Given the description of an element on the screen output the (x, y) to click on. 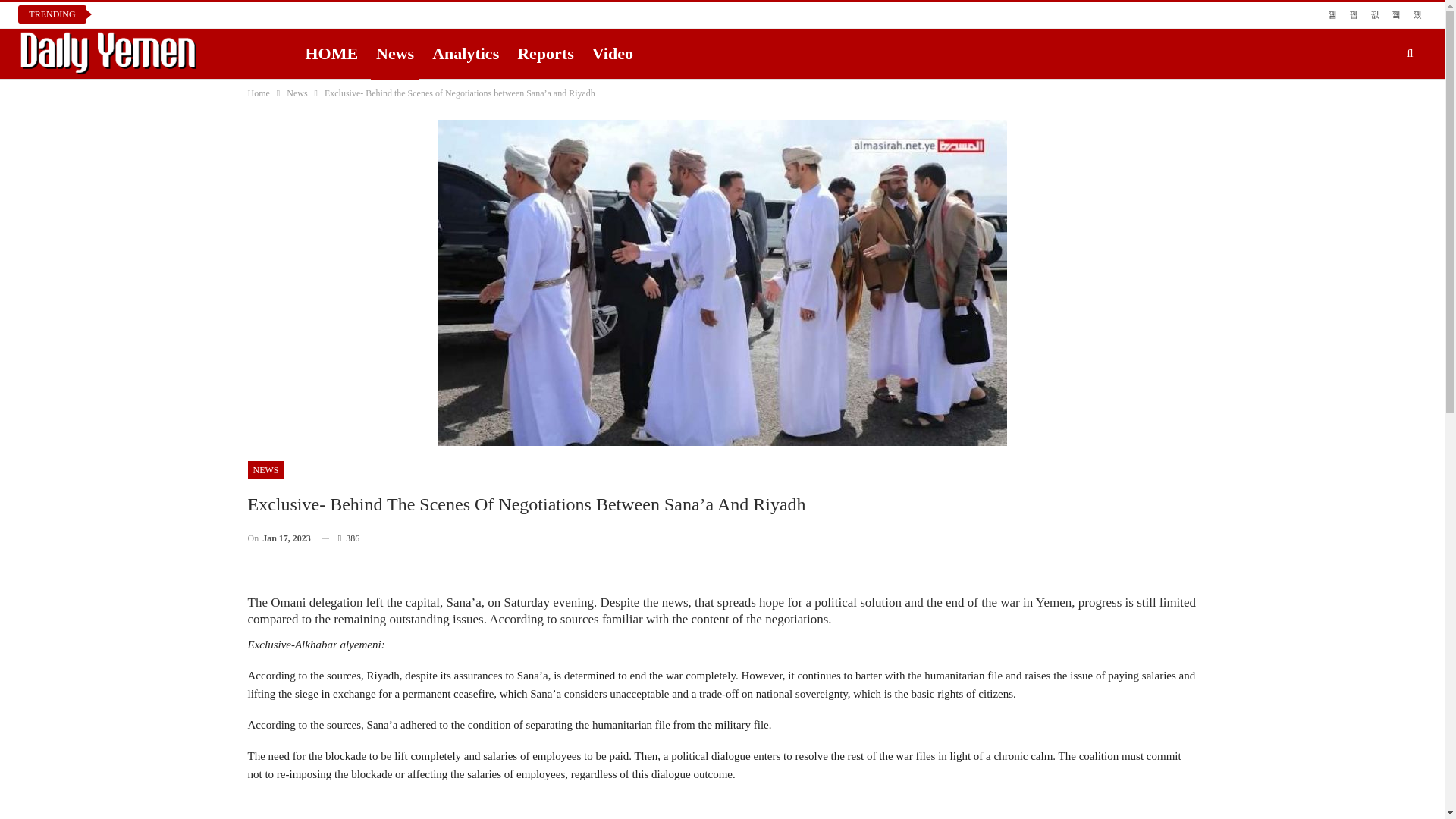
News (395, 53)
Analytics (464, 53)
HOME (330, 53)
Video (612, 53)
NEWS (265, 470)
Home (258, 93)
Reports (545, 53)
News (296, 93)
